Given the description of an element on the screen output the (x, y) to click on. 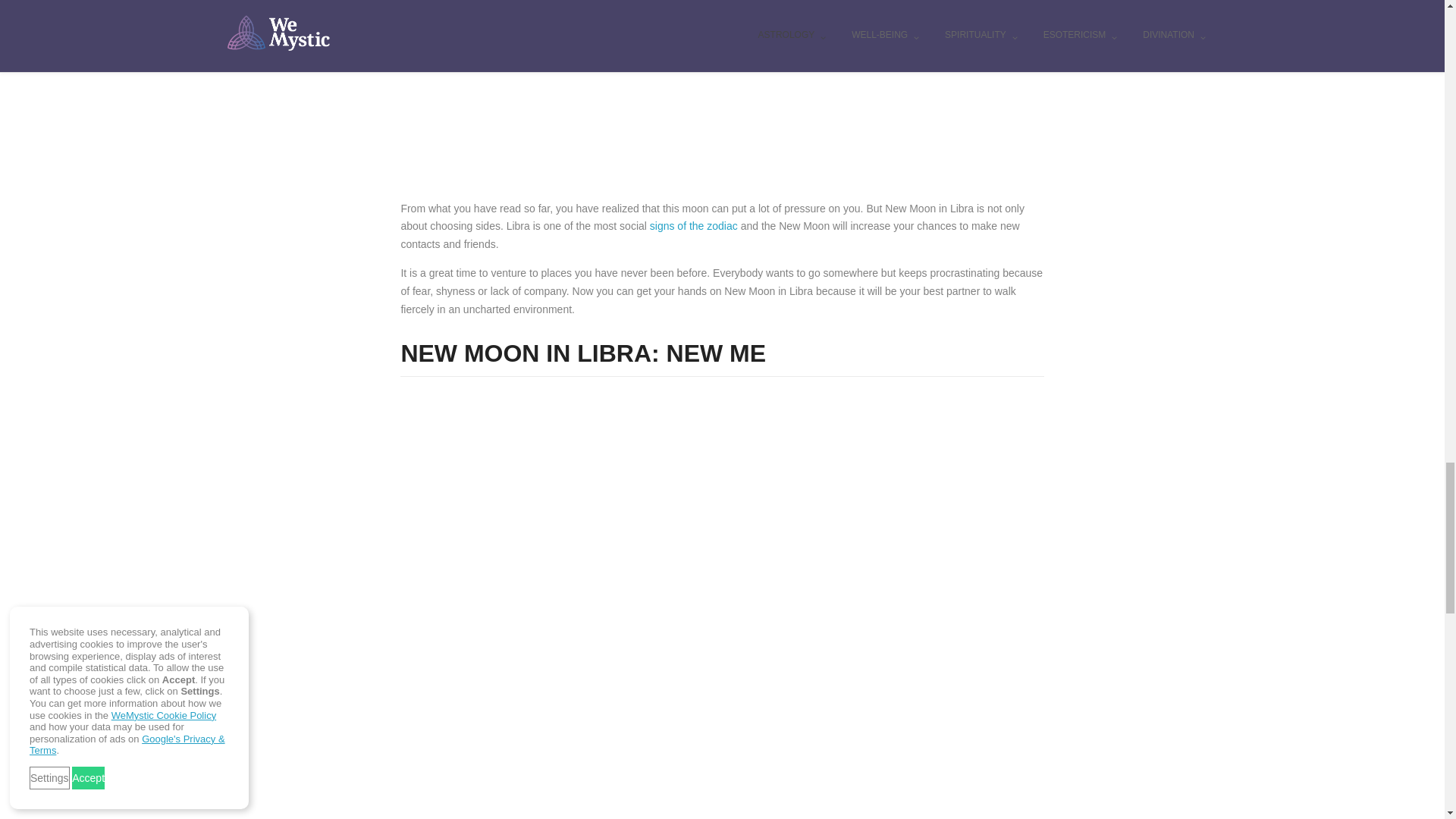
signs of the zodiac (693, 225)
